Given the description of an element on the screen output the (x, y) to click on. 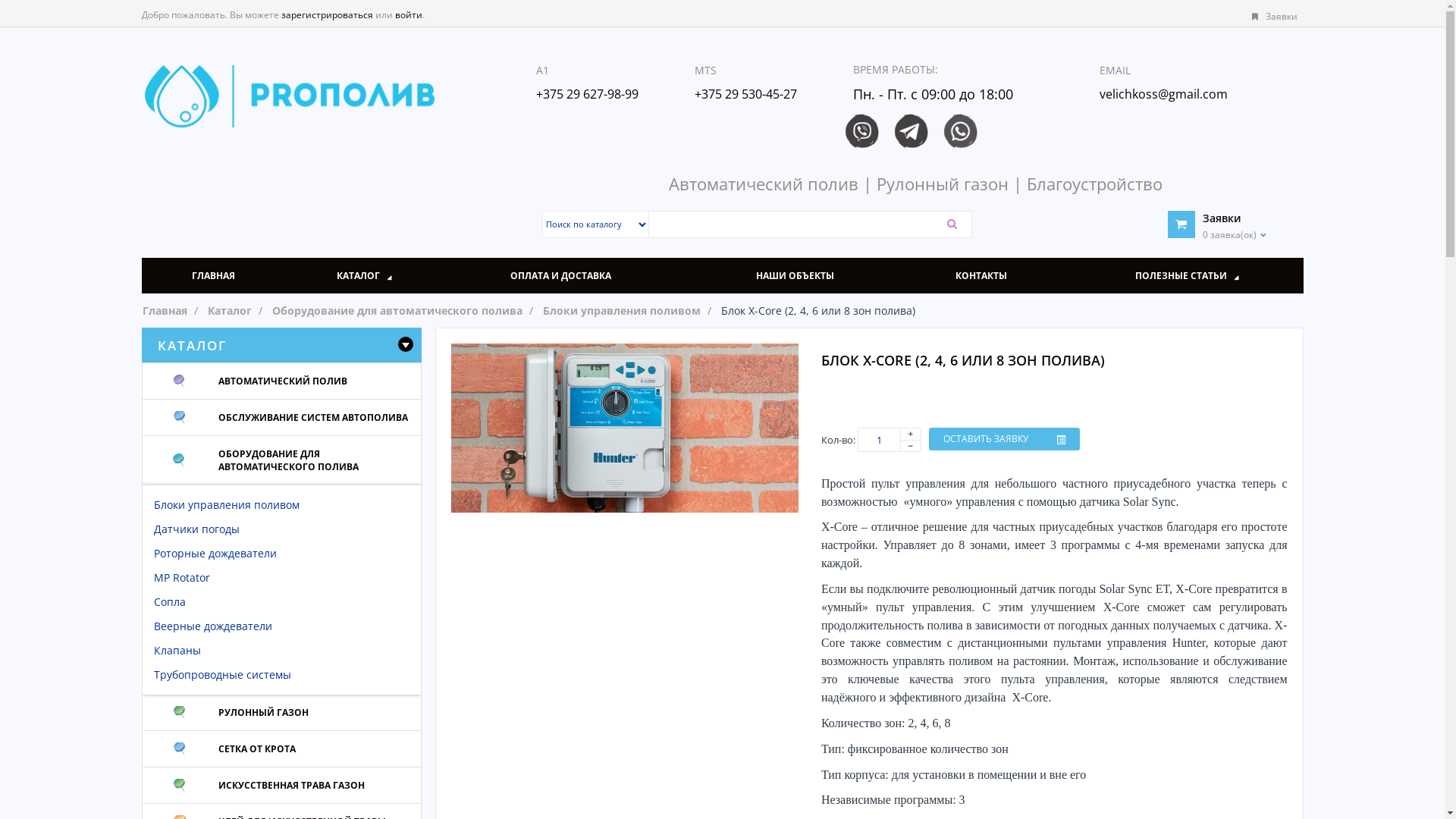
MP Rotator Element type: text (181, 577)
+375 29 530-45-27 Element type: text (745, 93)
+375 29 627-98-99 Element type: text (587, 93)
